Given the description of an element on the screen output the (x, y) to click on. 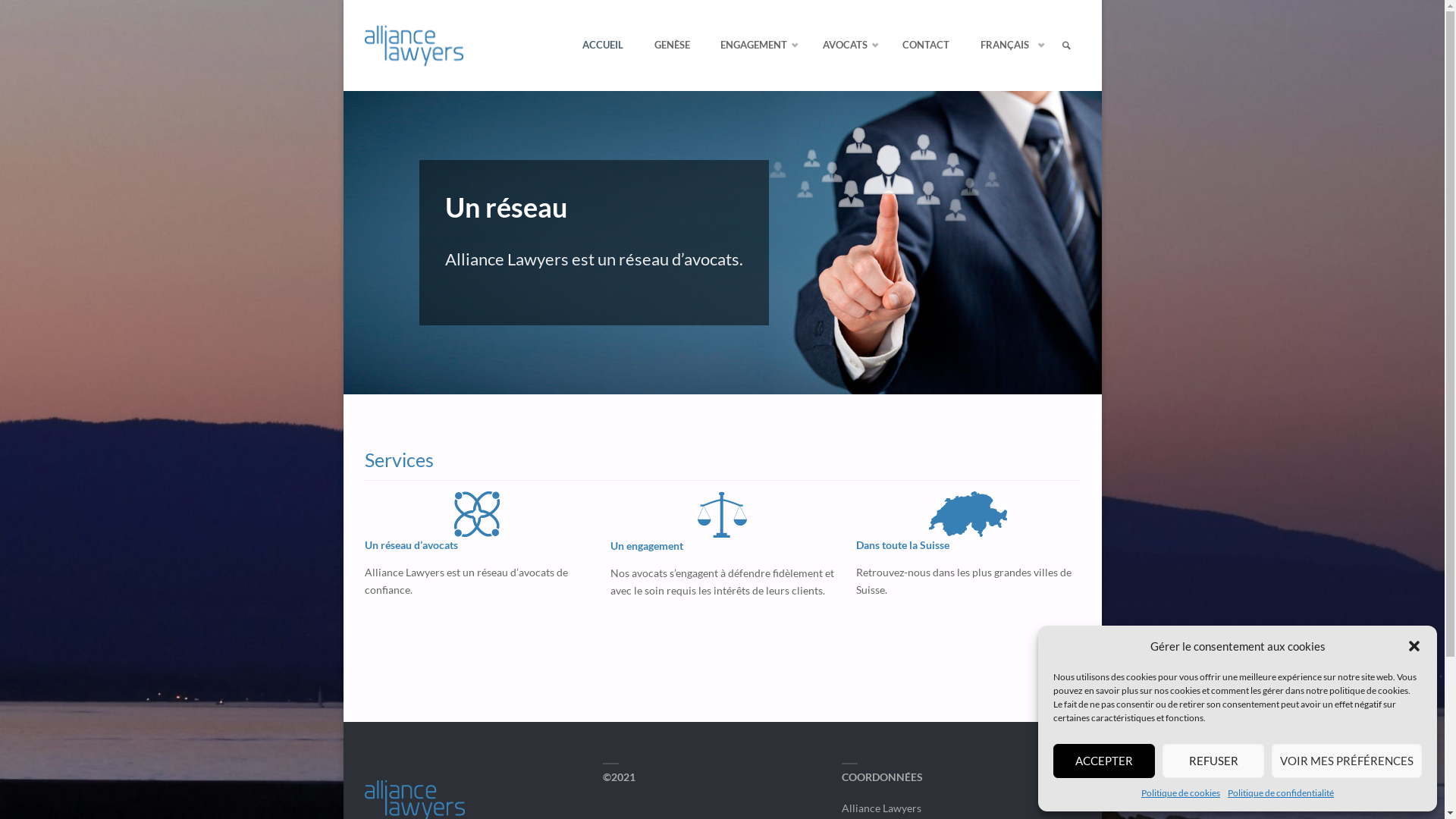
ACCUEIL Element type: text (602, 45)
ALLIANCE LAWYERS Element type: text (504, 21)
Politique de cookies Element type: text (1180, 792)
SEARCH Element type: text (1066, 45)
CONTACT Element type: text (925, 45)
ENGAGEMENT Element type: text (756, 45)
REFUSER Element type: text (1213, 760)
ACCEPTER Element type: text (1103, 760)
AVOCATS Element type: text (847, 45)
Alliance Lawyers Element type: hover (413, 44)
